Given the description of an element on the screen output the (x, y) to click on. 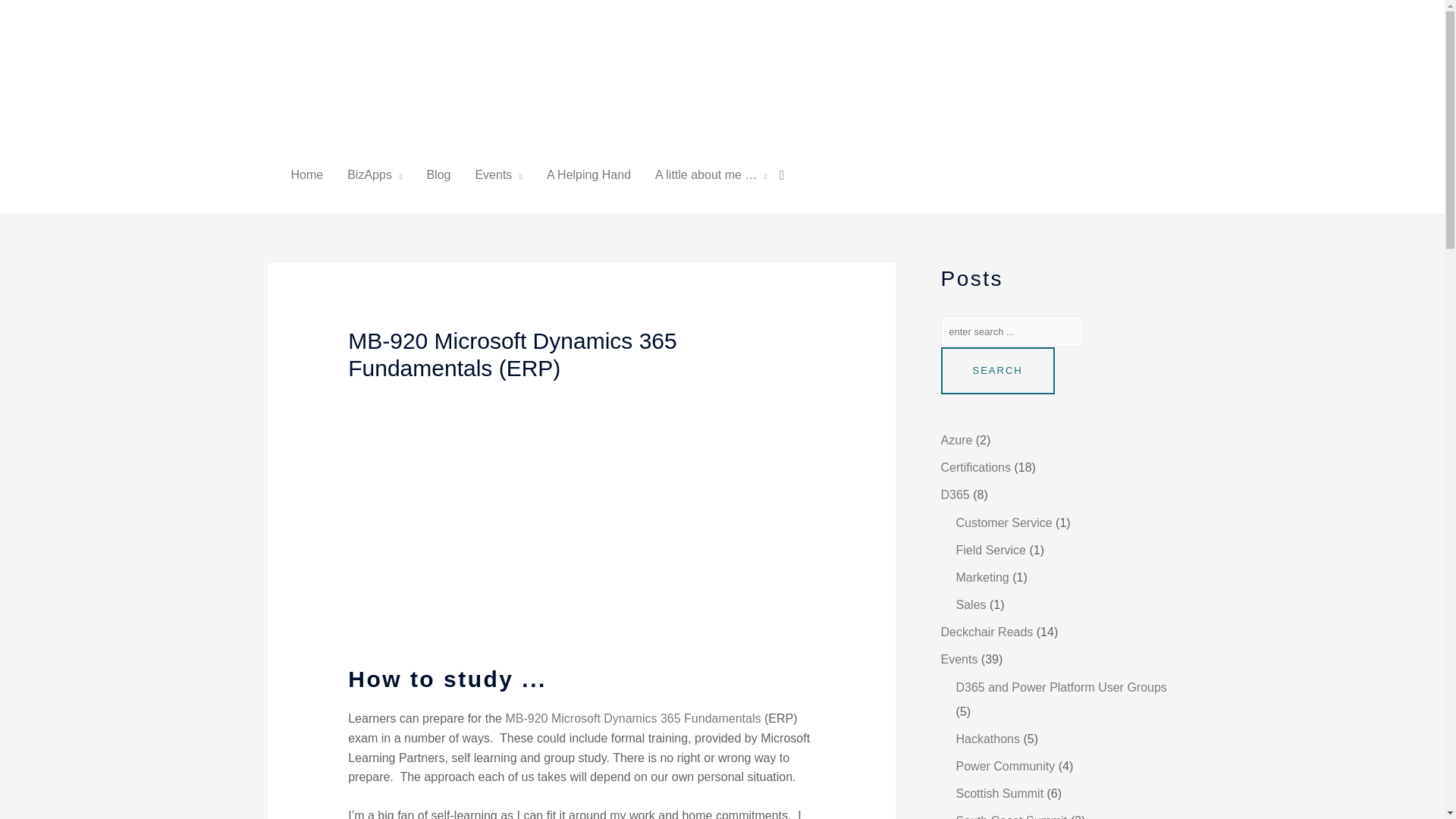
Events (498, 174)
BizApps (373, 174)
Home (307, 174)
MB-920 Microsoft Dynamics 365 Fundamentals (632, 717)
A Helping Hand (588, 174)
Blog (438, 174)
